Given the description of an element on the screen output the (x, y) to click on. 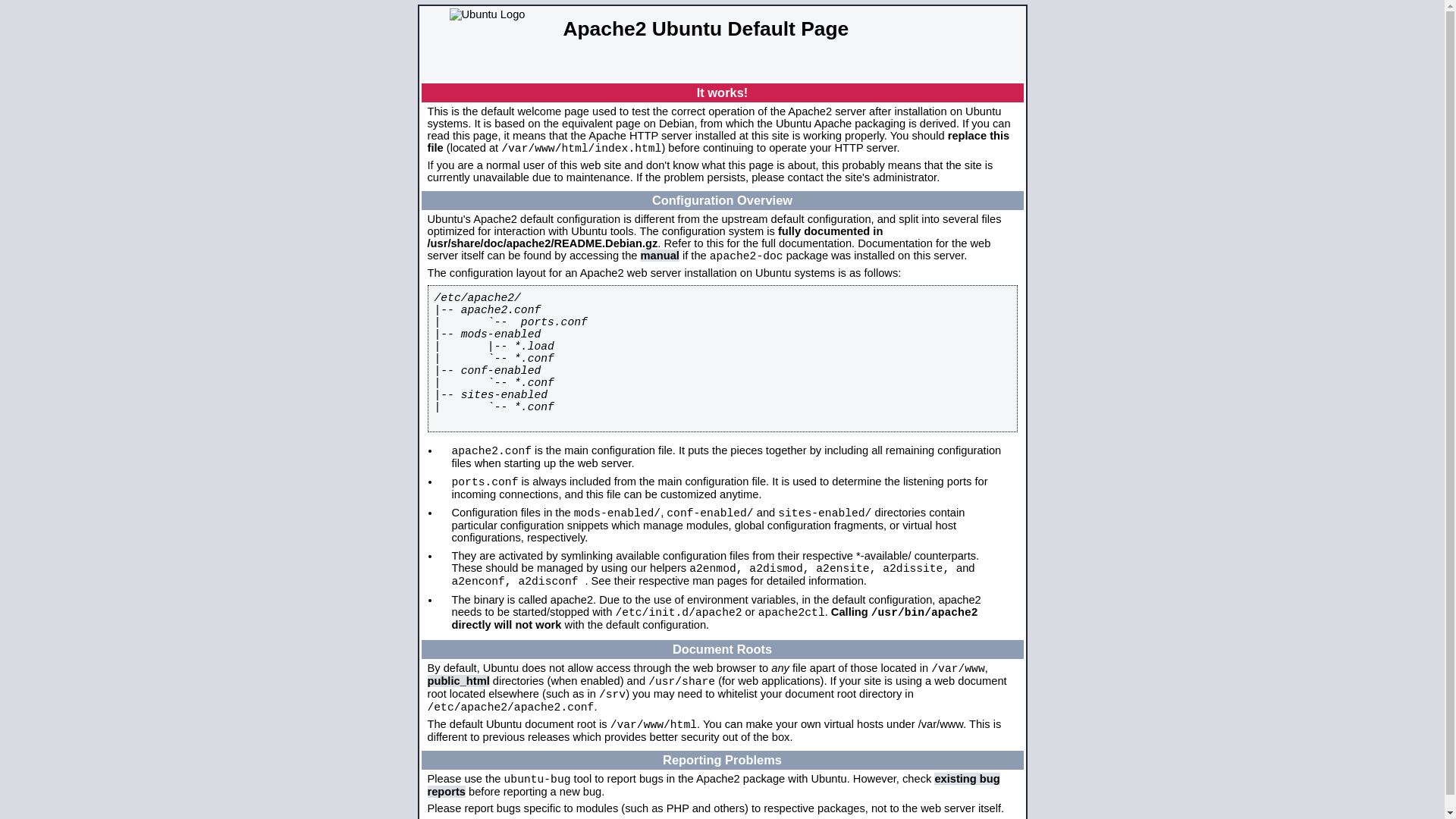
public_html Element type: text (458, 680)
existing bug reports Element type: text (713, 784)
manual Element type: text (659, 255)
